Given the description of an element on the screen output the (x, y) to click on. 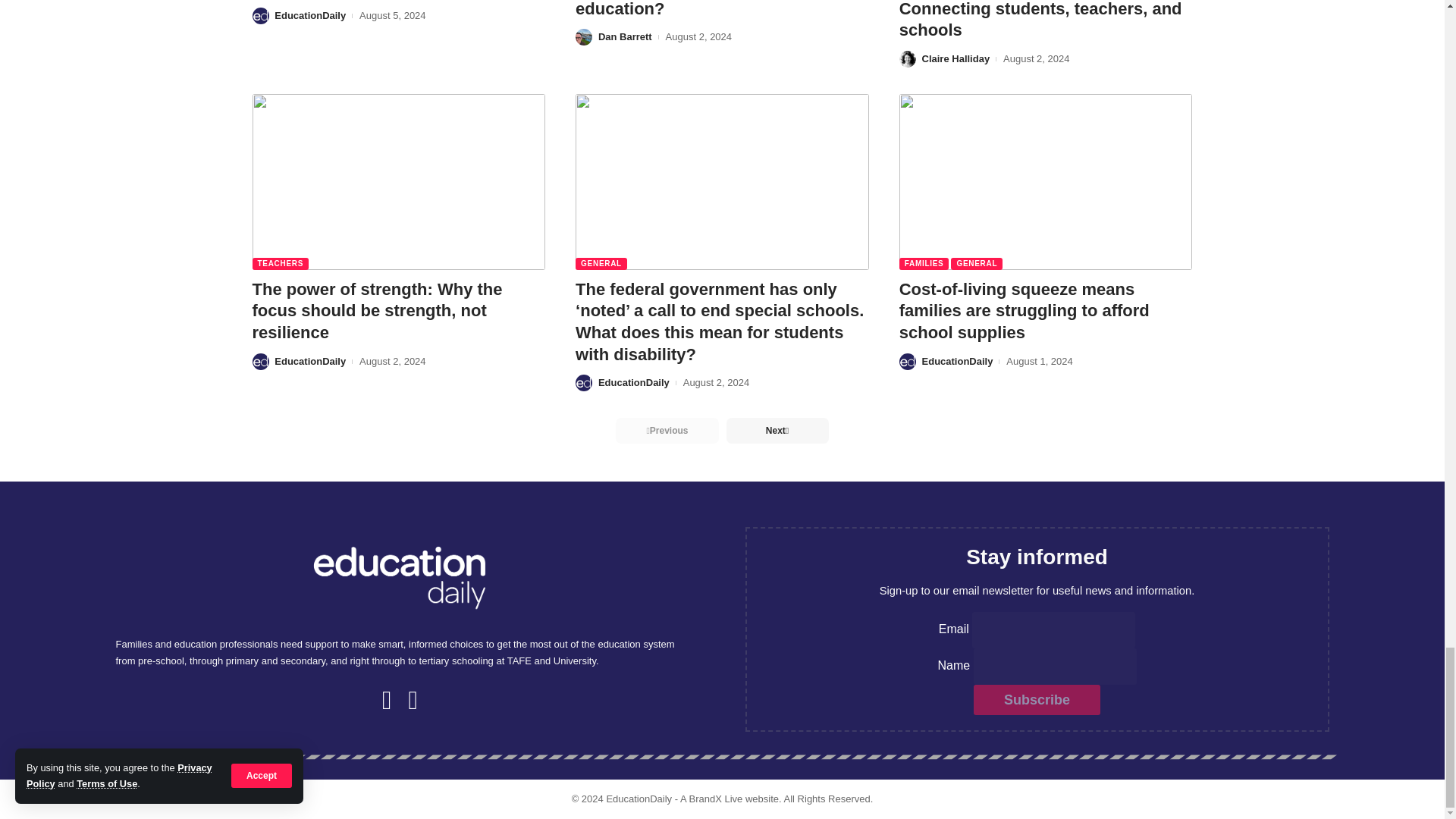
Subscribe (1037, 699)
